Given the description of an element on the screen output the (x, y) to click on. 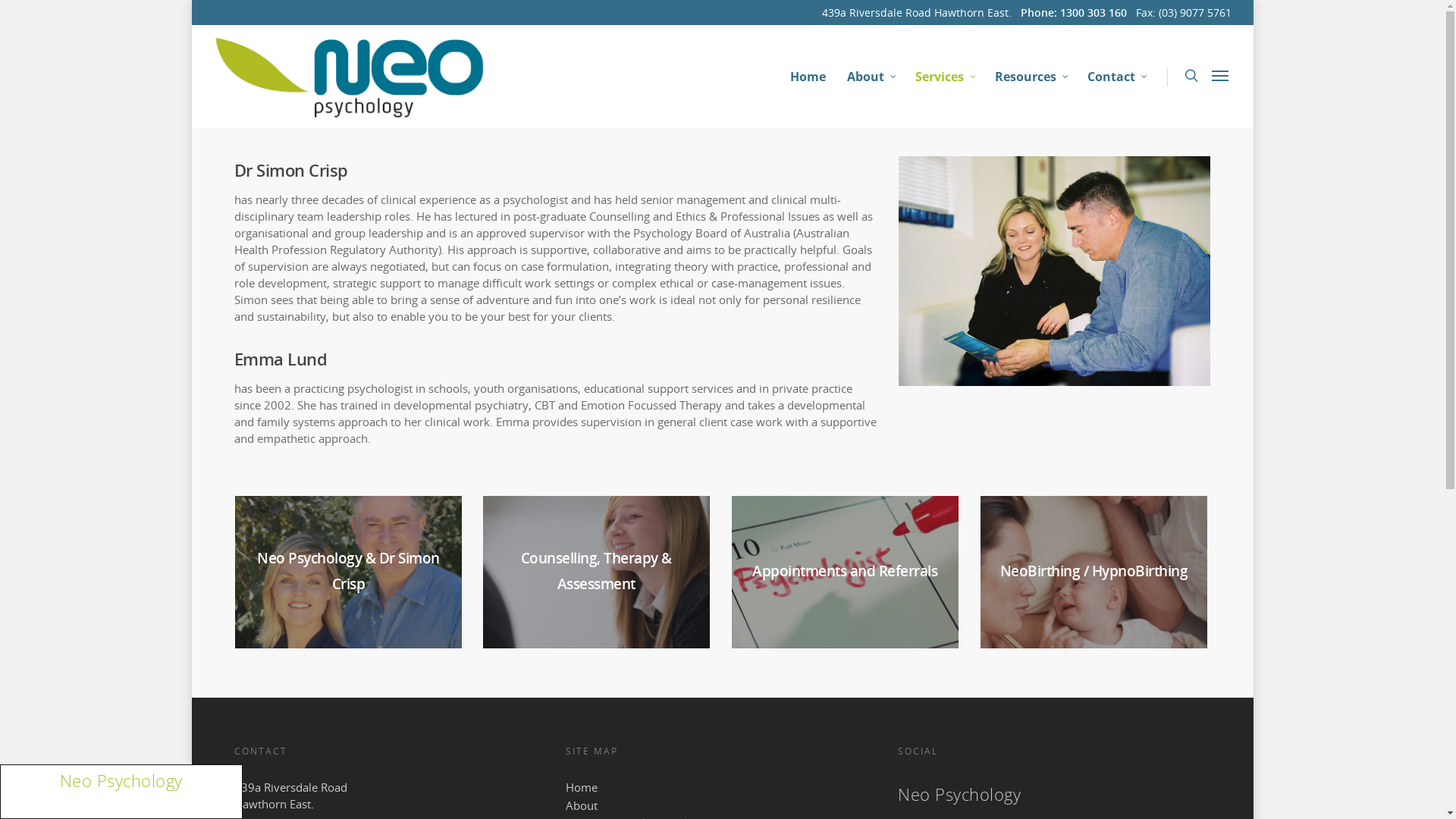
About Element type: text (870, 76)
Home Element type: text (721, 787)
Neo Psychology Element type: text (958, 793)
Services Element type: text (944, 76)
Home Element type: text (806, 76)
About Element type: text (721, 805)
Neo Psychology Element type: text (120, 779)
Contact Element type: text (1115, 76)
Resources Element type: text (1029, 76)
